Given the description of an element on the screen output the (x, y) to click on. 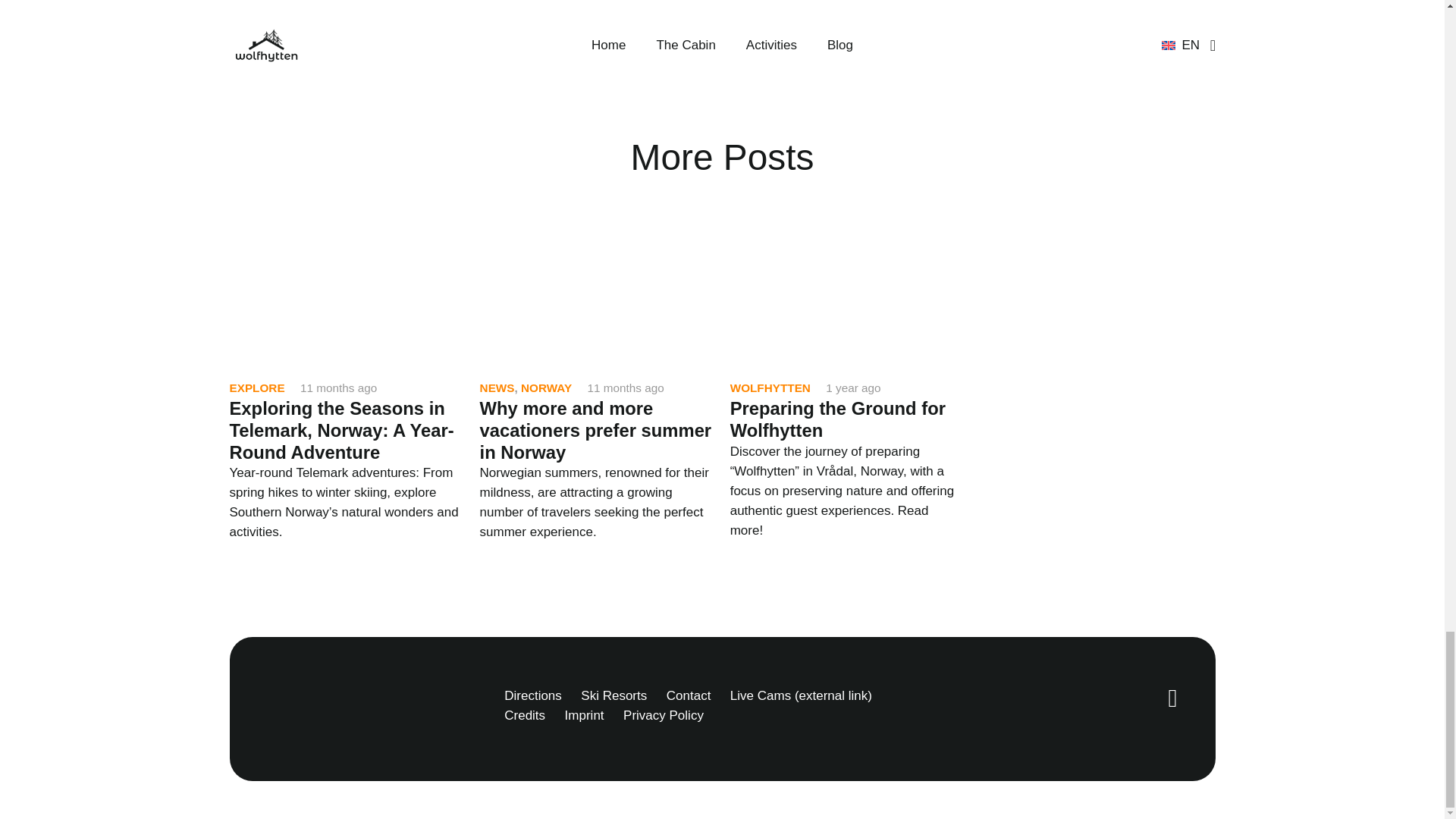
Credits (523, 715)
Imprint (584, 715)
Preparing the Ground for Wolfhytten (837, 419)
NORWAY (546, 387)
Directions (532, 695)
EXPLORE (255, 387)
NEWS (497, 387)
Why more and more vacationers prefer summer in Norway (595, 429)
Contact (688, 695)
